Given the description of an element on the screen output the (x, y) to click on. 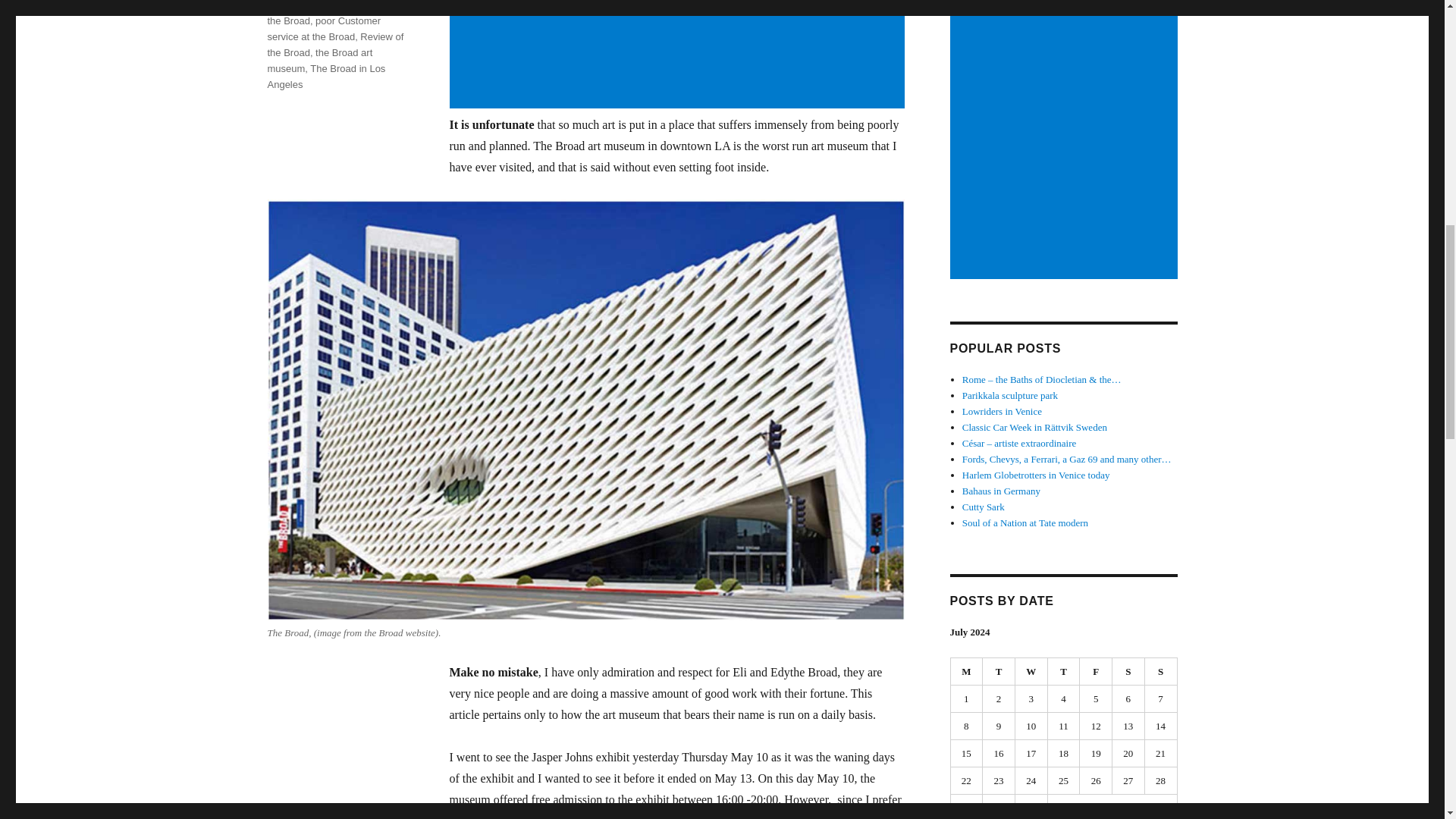
Tuesday (998, 671)
Lowriders in Venice (1002, 410)
Misery at the Broad (330, 5)
Saturday (1128, 671)
the Broad art museum (319, 60)
Harlem Globetrotters in Venice today (1035, 474)
My experience at the Broad (333, 13)
Sunday (1160, 671)
Friday (1096, 671)
The Broad in Los Angeles (325, 76)
Monday (967, 671)
Wednesday (1031, 671)
Review of the Broad (334, 44)
Parikkala sculpture park (1010, 395)
Thursday (1064, 671)
